Given the description of an element on the screen output the (x, y) to click on. 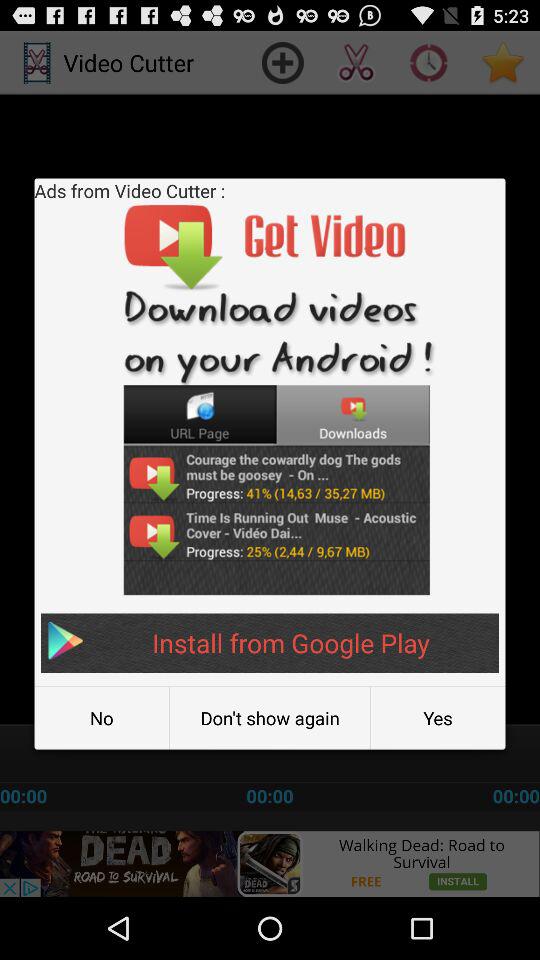
tap the don t show item (269, 717)
